Given the description of an element on the screen output the (x, y) to click on. 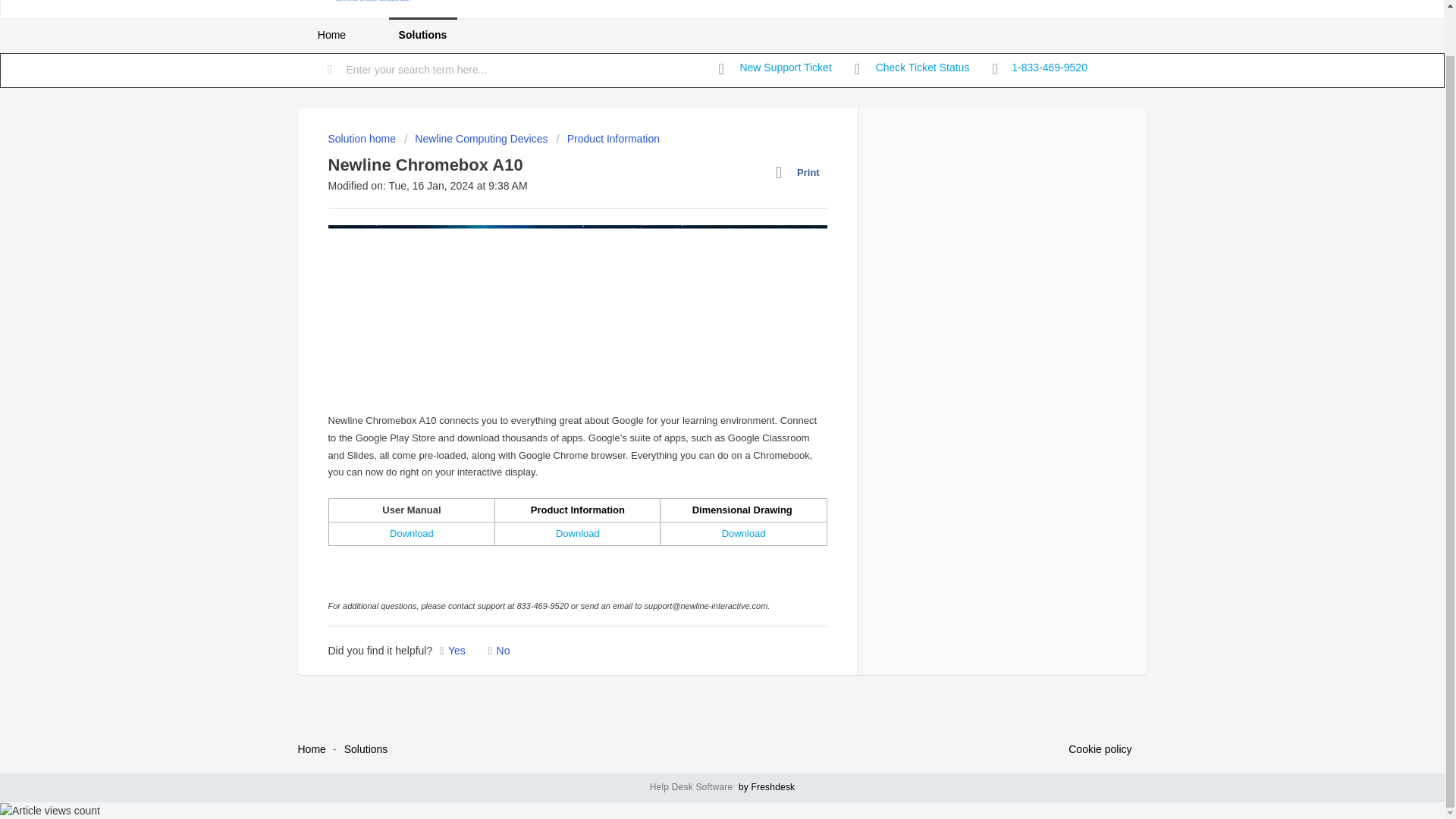
Solutions (365, 748)
Solutions (422, 35)
Help Desk Software (693, 787)
Product Information (607, 138)
1-833-469-9520 (1039, 68)
Home (310, 748)
Solution home (362, 138)
New support ticket (775, 68)
Print (801, 172)
Download (577, 532)
